Given the description of an element on the screen output the (x, y) to click on. 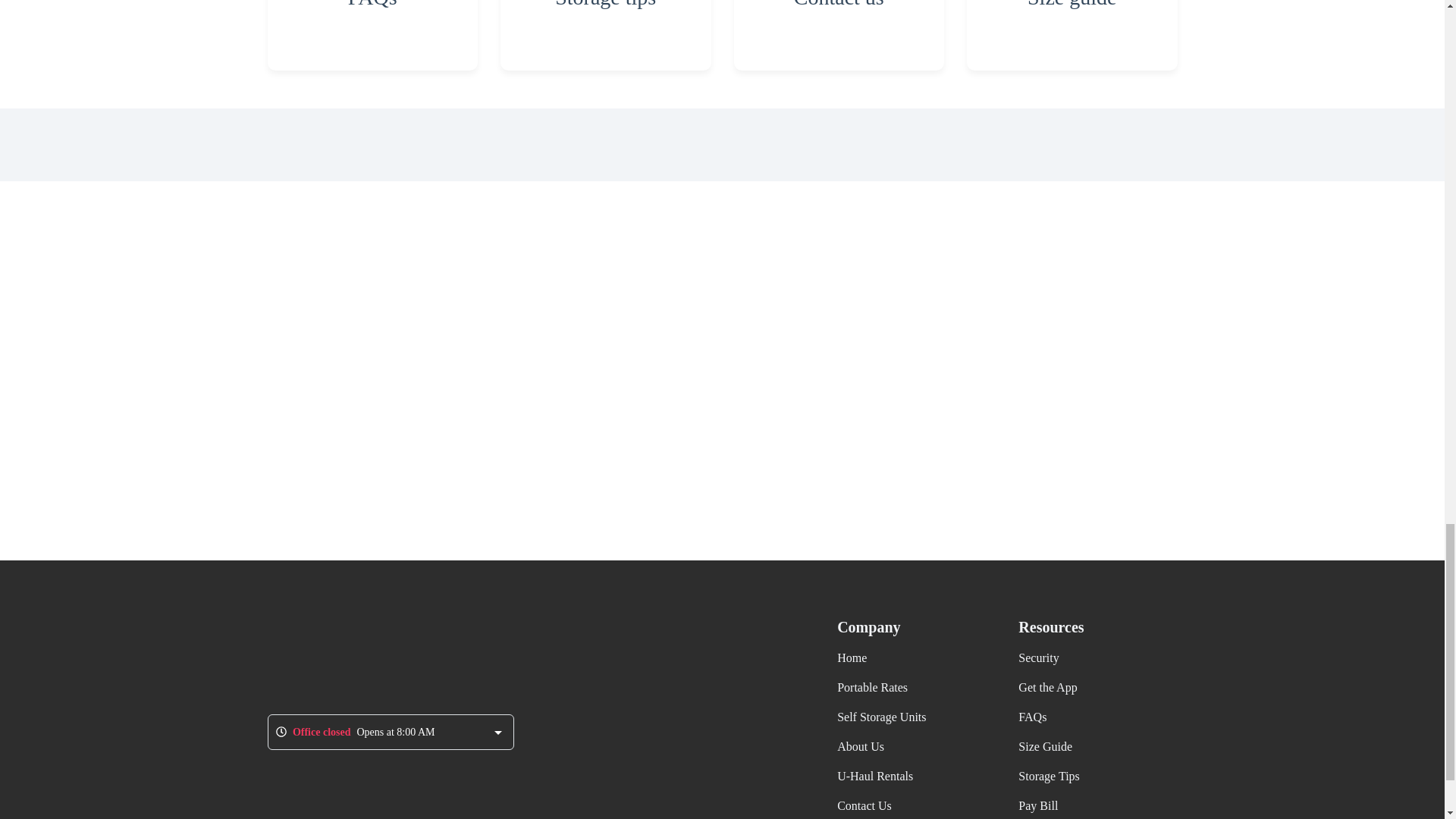
Contact us (838, 35)
Security (1037, 657)
Storage 2 Go (352, 654)
FAQs (371, 35)
Storage tips (605, 35)
Size guide (1071, 35)
Home (851, 657)
Self Storage Units (881, 716)
Pay Bill (1037, 805)
Portable Rates (872, 686)
